Given the description of an element on the screen output the (x, y) to click on. 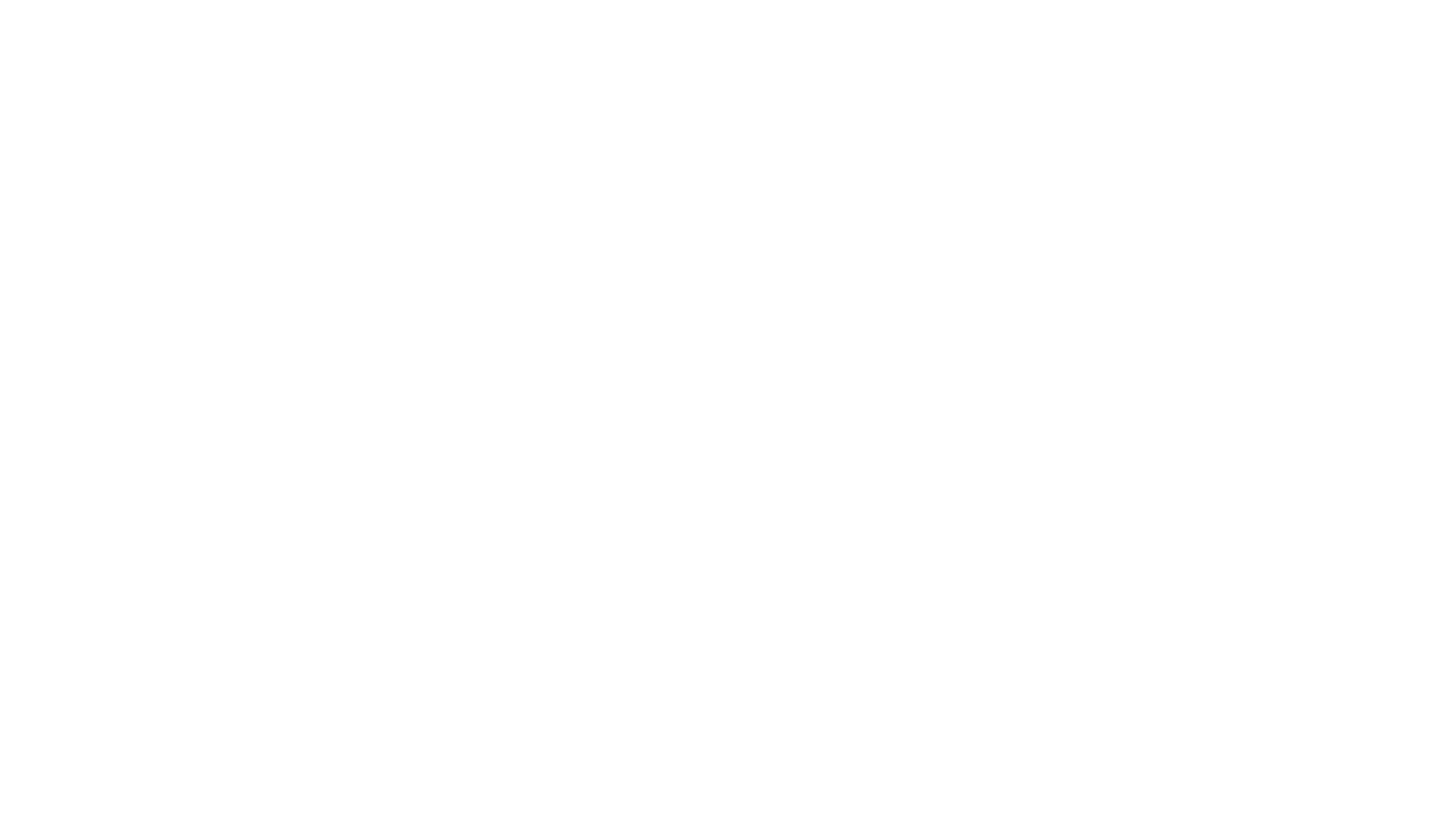
Cloudflare Element type: text (798, 799)
